Given the description of an element on the screen output the (x, y) to click on. 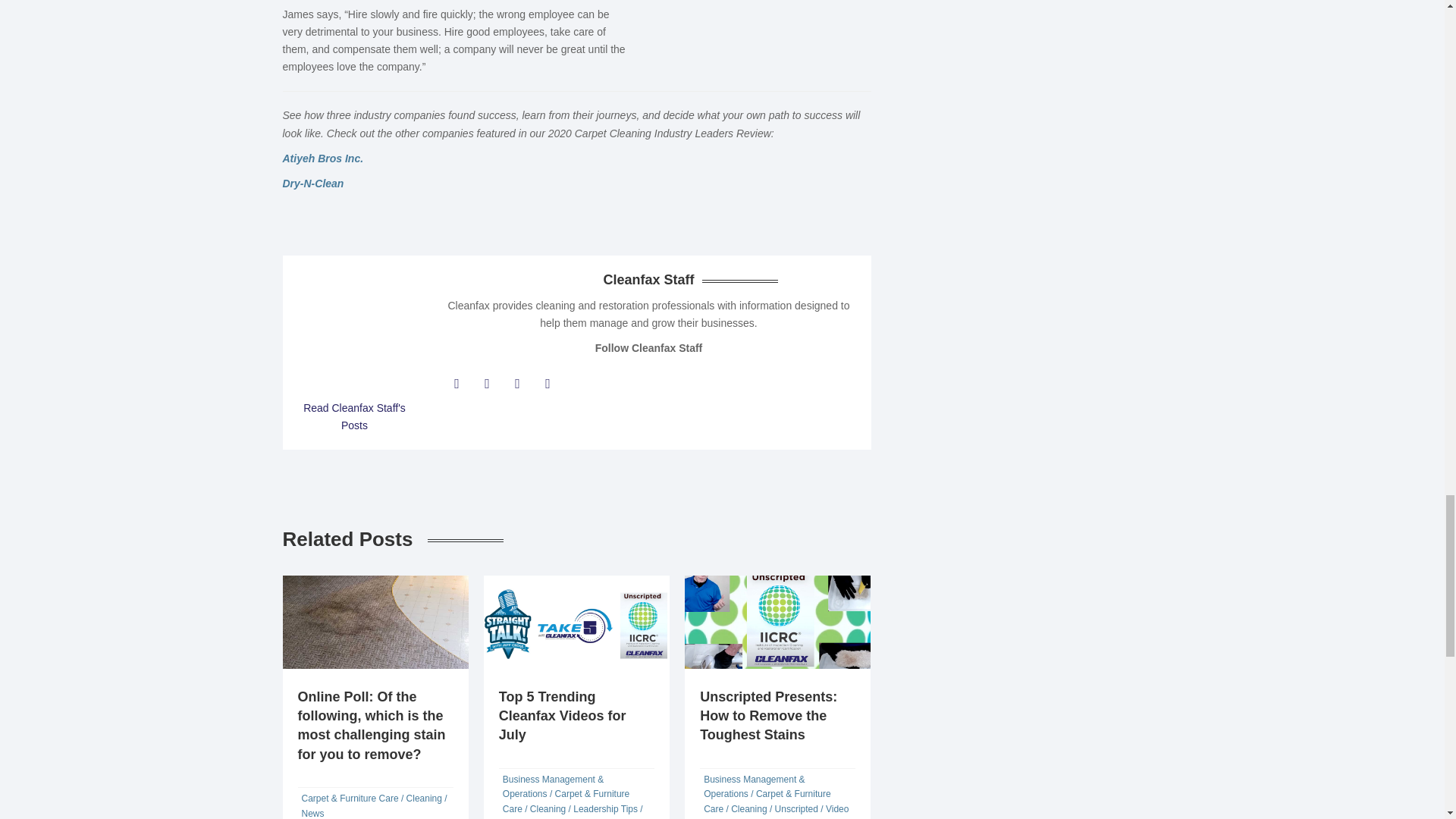
Cleanfax Staff (353, 416)
Atiyeh Bros Inc. (322, 158)
Top 5 Trending Cleanfax Videos for July (562, 715)
